Given the description of an element on the screen output the (x, y) to click on. 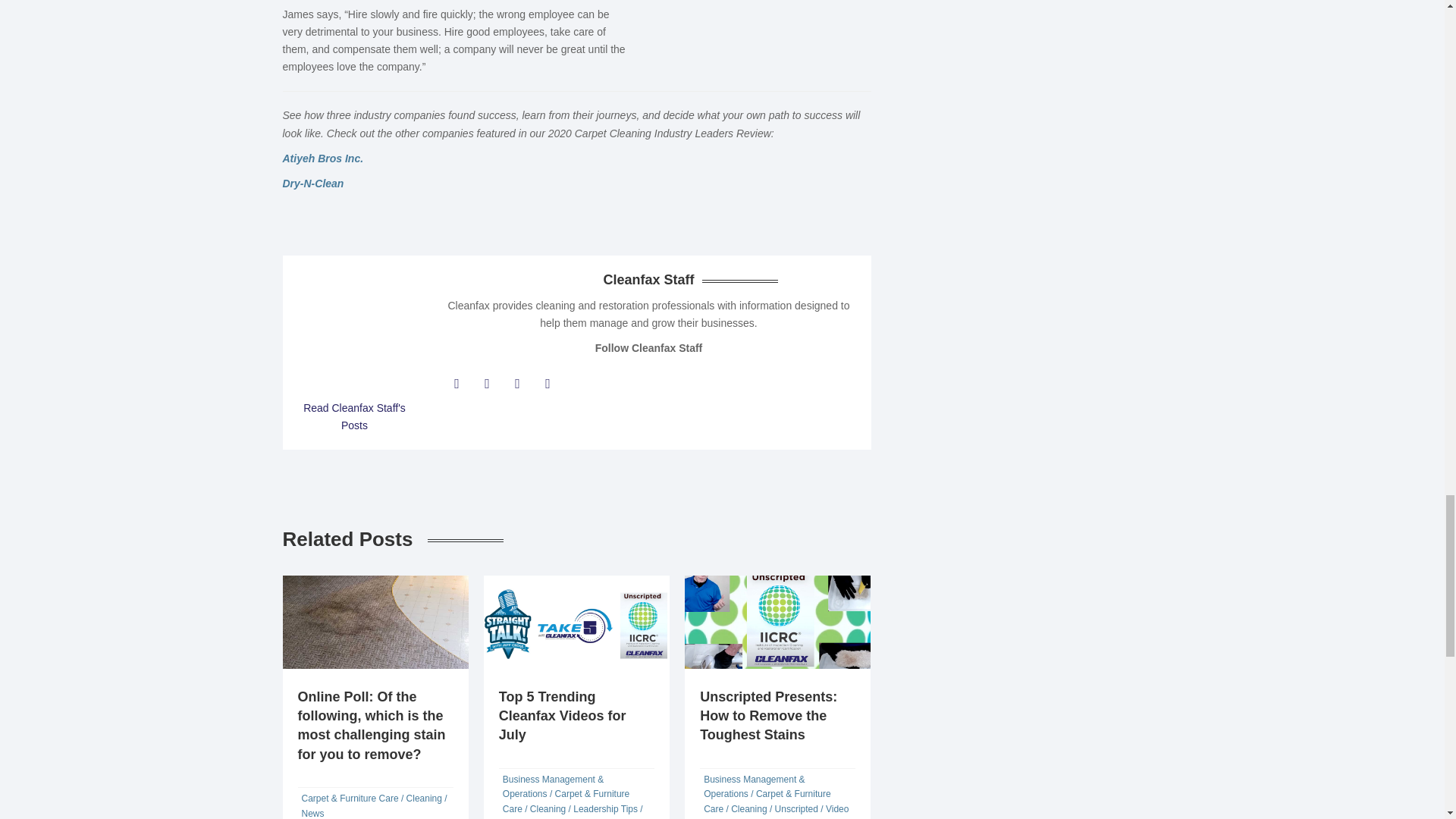
Cleanfax Staff (353, 416)
Atiyeh Bros Inc. (322, 158)
Top 5 Trending Cleanfax Videos for July (562, 715)
